Given the description of an element on the screen output the (x, y) to click on. 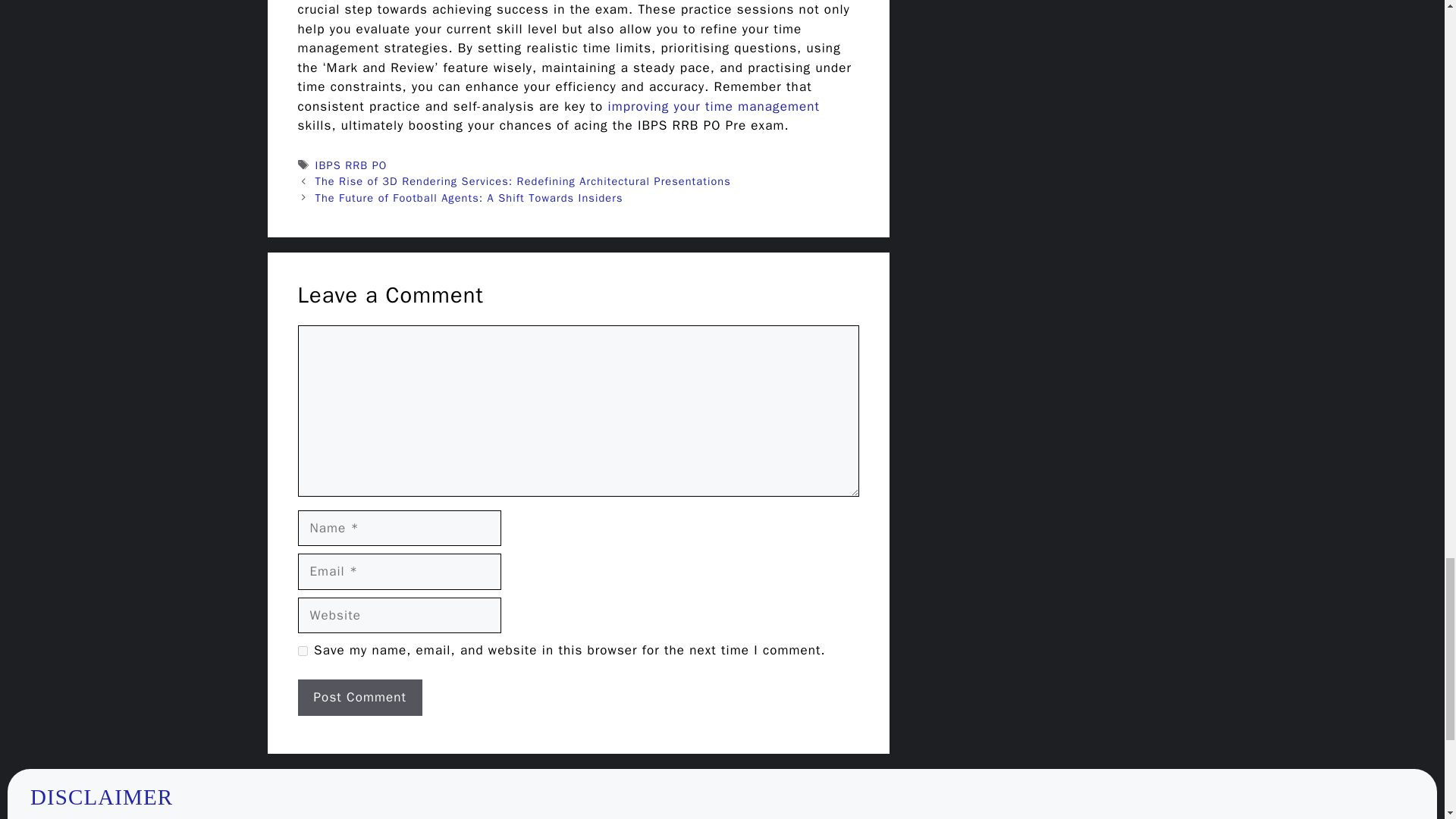
The Future of Football Agents: A Shift Towards Insiders (469, 197)
yes (302, 651)
improving your time management (714, 106)
IBPS RRB PO (351, 164)
Post Comment (359, 697)
Post Comment (359, 697)
